Given the description of an element on the screen output the (x, y) to click on. 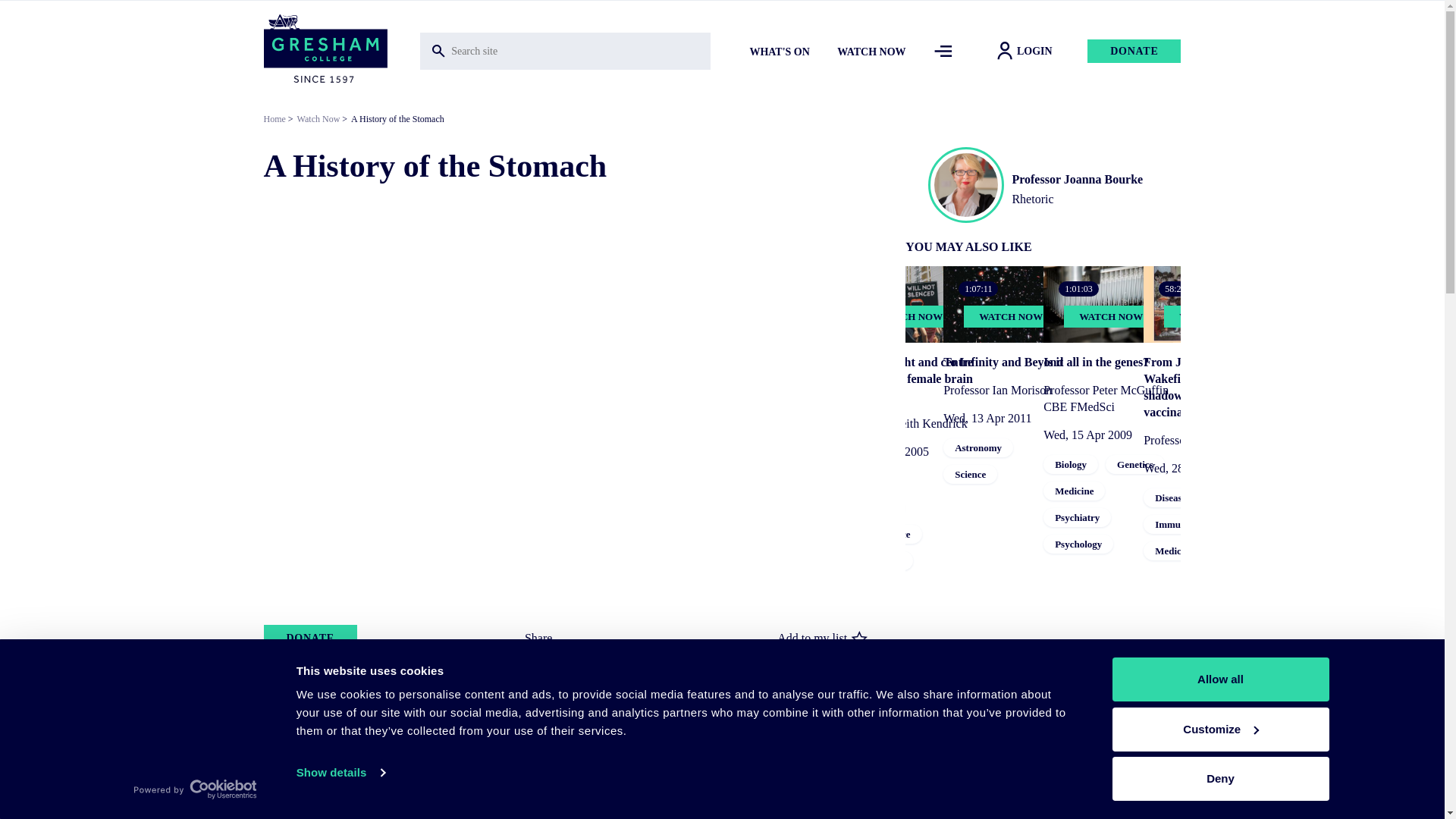
Home (325, 50)
Deny (1219, 778)
Show details (340, 772)
